Given the description of an element on the screen output the (x, y) to click on. 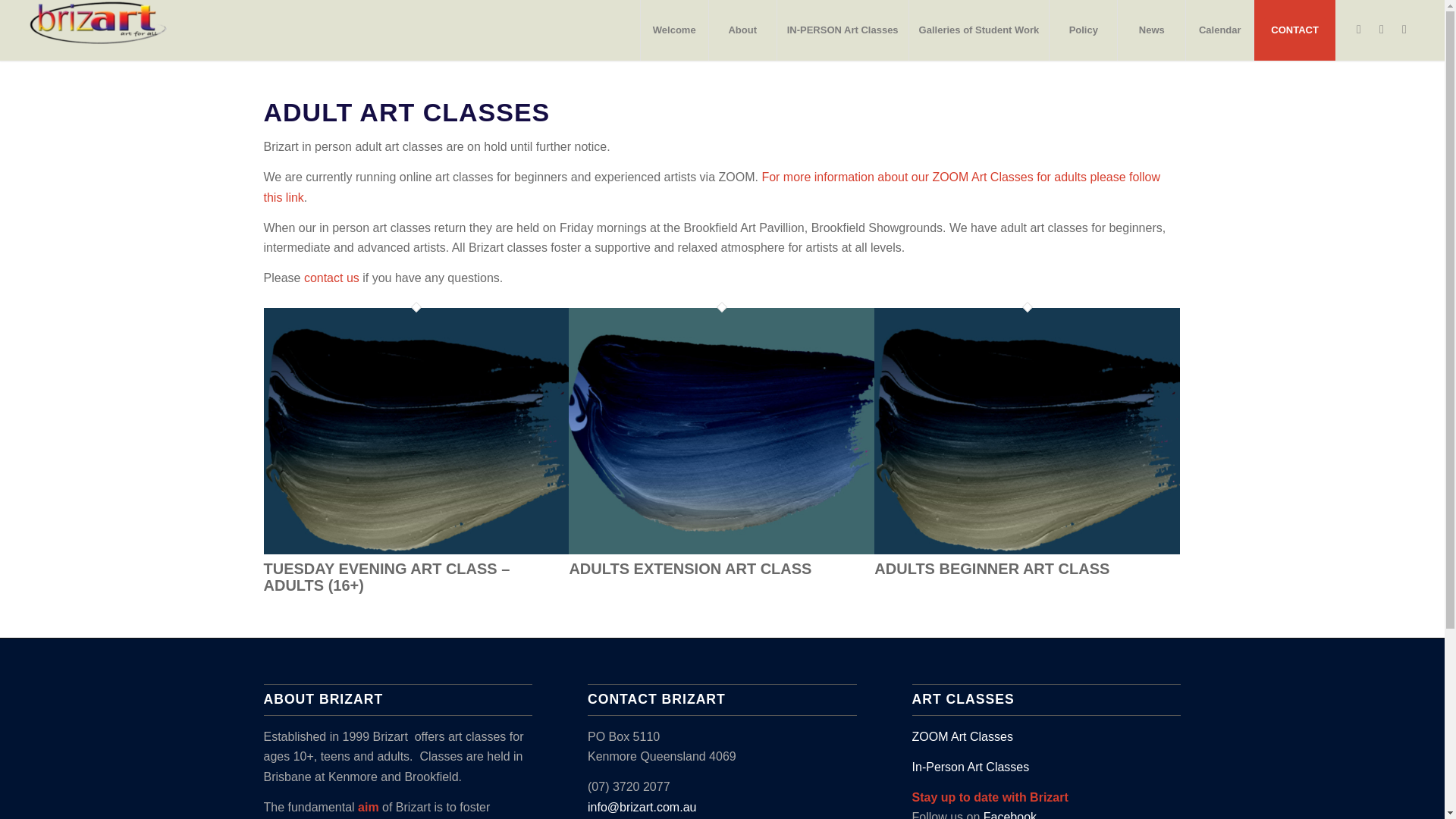
Mail (1404, 29)
Policy (1082, 30)
News (1150, 30)
ADULTS EXTENSION ART CLASS (689, 568)
Instagram (1381, 29)
contact us (331, 277)
Adults Extension Art Class (722, 549)
Facebook (1359, 29)
About (741, 30)
Facebook (1010, 814)
Adults Beginner Art Class (1027, 549)
In-Person Art Classes (970, 766)
Adults Extension Art Class (689, 568)
IN-PERSON Art Classes (842, 30)
